Given the description of an element on the screen output the (x, y) to click on. 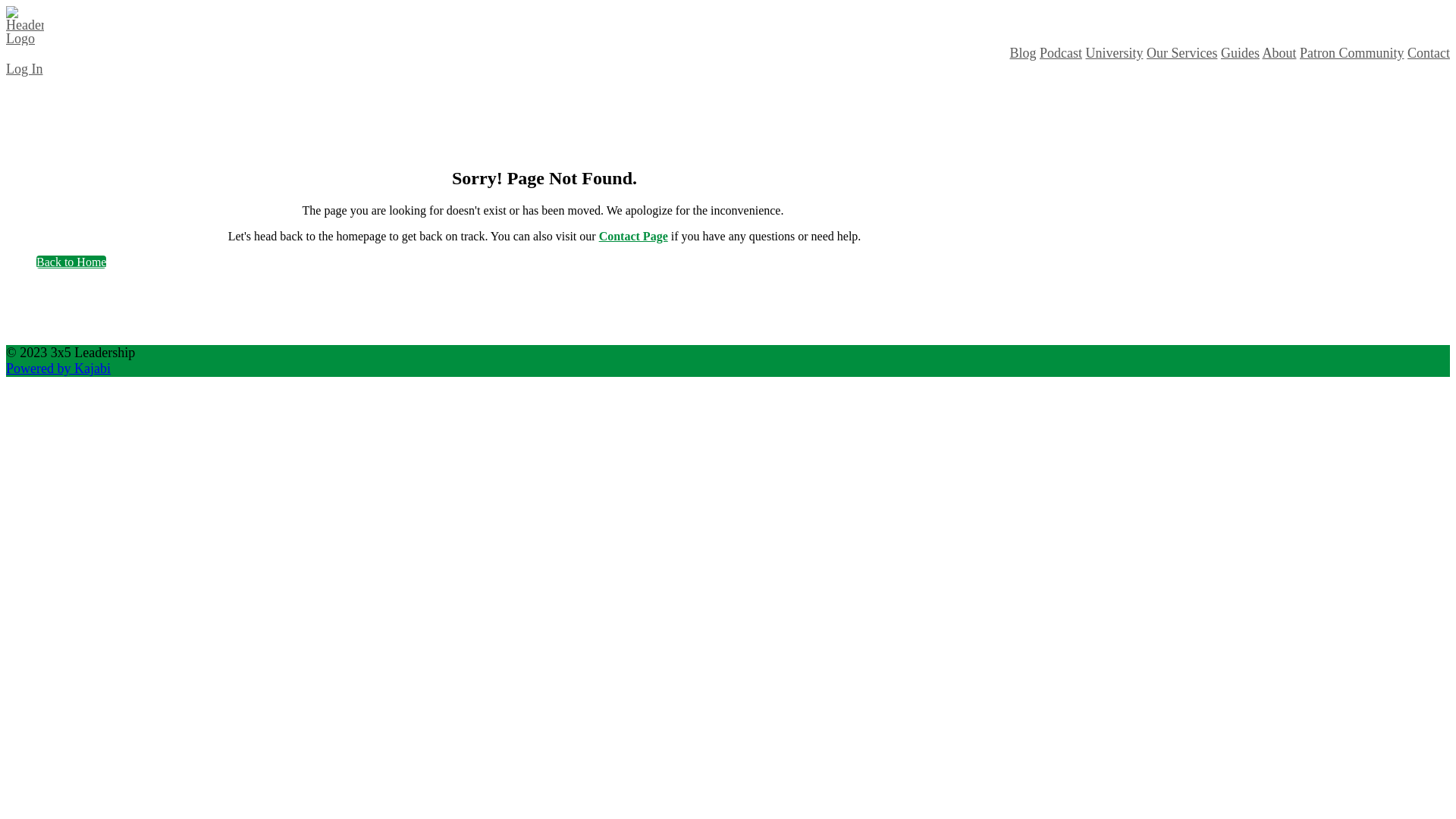
Guides Element type: text (1239, 52)
Back to Home Element type: text (71, 261)
Log In Element type: text (24, 68)
Powered by Kajabi Element type: text (58, 368)
Our Services Element type: text (1181, 52)
Podcast Element type: text (1060, 52)
Contact Element type: text (1428, 52)
Contact Page Element type: text (633, 235)
University Element type: text (1113, 52)
Blog Element type: text (1022, 52)
About Element type: text (1278, 52)
Patron Community Element type: text (1351, 52)
